Given the description of an element on the screen output the (x, y) to click on. 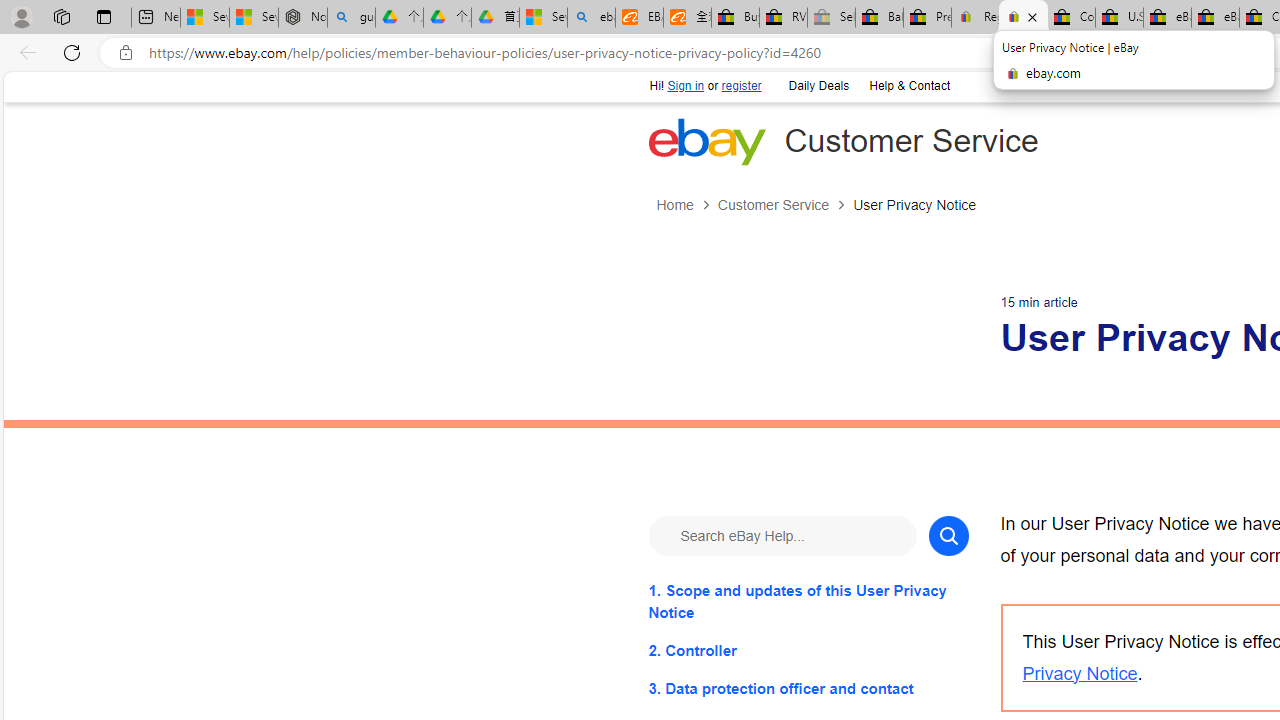
3. Data protection officer and contact (807, 687)
